Given the description of an element on the screen output the (x, y) to click on. 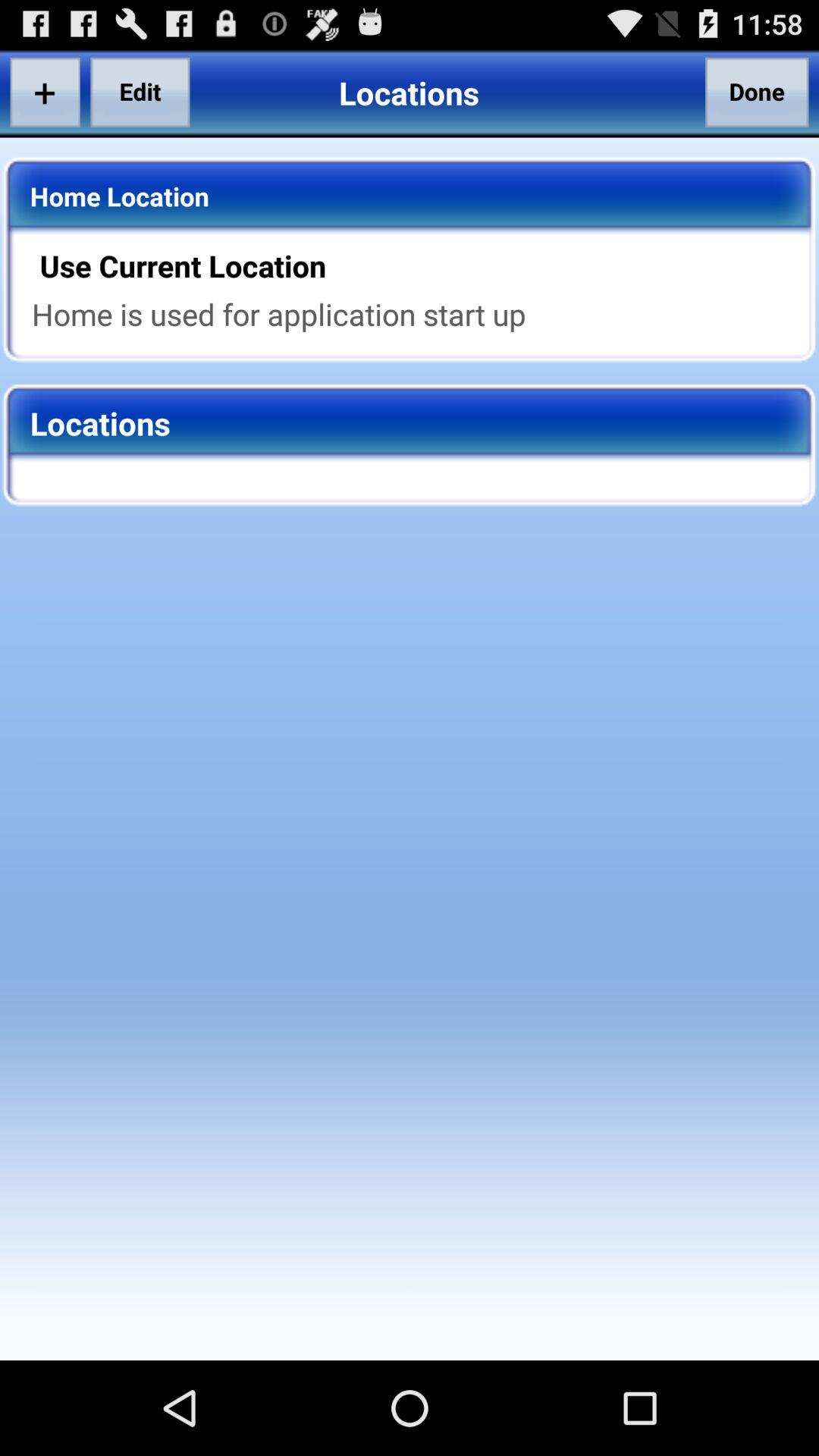
turn on the app next to locations (756, 92)
